Given the description of an element on the screen output the (x, y) to click on. 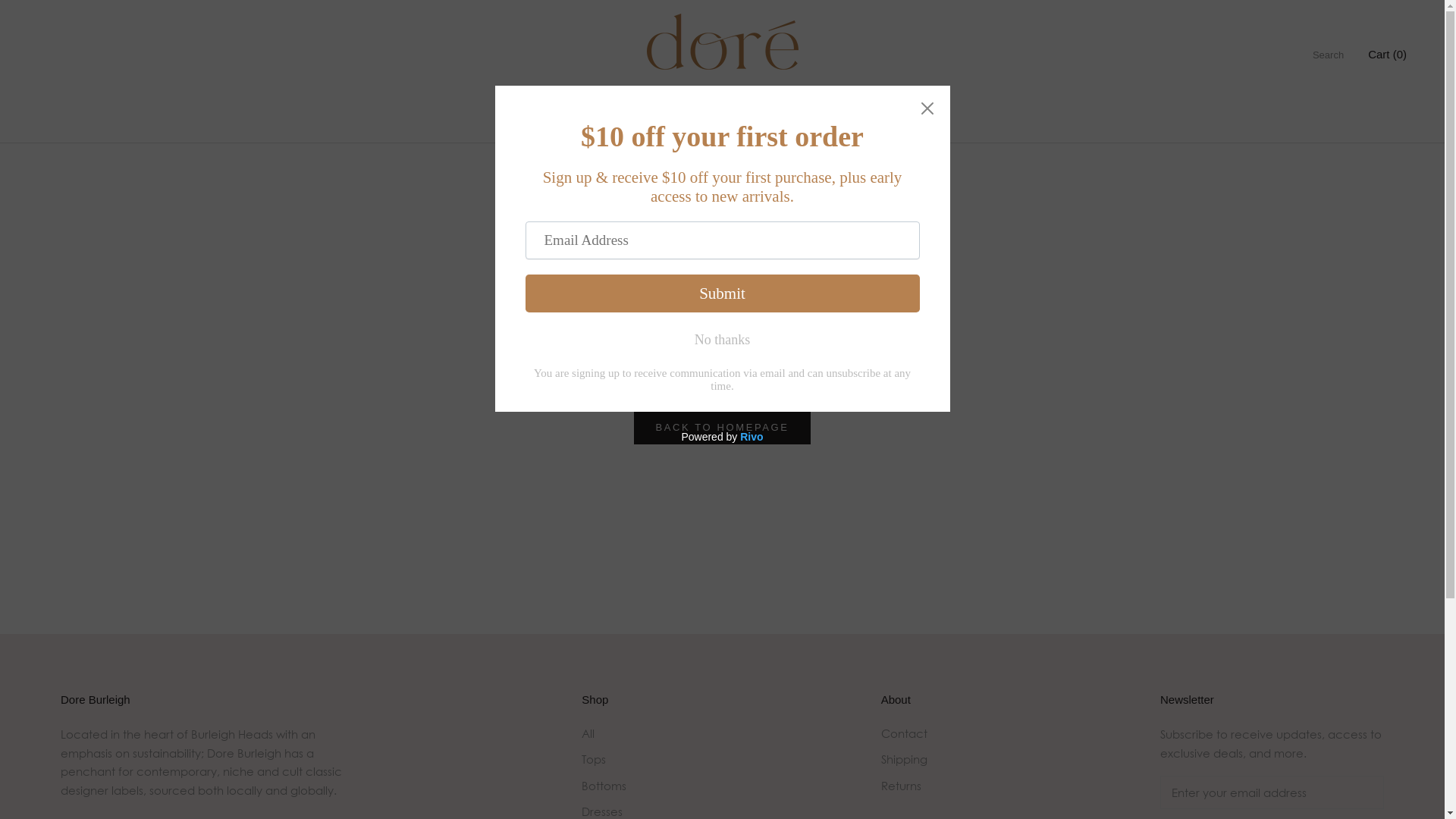
Search Element type: text (1327, 54)
Shop
Shop Element type: text (701, 118)
Labels Element type: text (763, 118)
Returns Element type: text (904, 785)
Cart (0) Element type: text (1387, 53)
Bottoms Element type: text (614, 785)
Home
Home Element type: text (546, 118)
Shipping Element type: text (904, 759)
Tops Element type: text (614, 759)
Contact Element type: text (904, 733)
All Element type: text (614, 733)
Contact
Contact Element type: text (893, 118)
BACK TO HOMEPAGE Element type: text (722, 427)
New Arrivals
New Arrivals Element type: text (624, 118)
About
About Element type: text (826, 118)
